Given the description of an element on the screen output the (x, y) to click on. 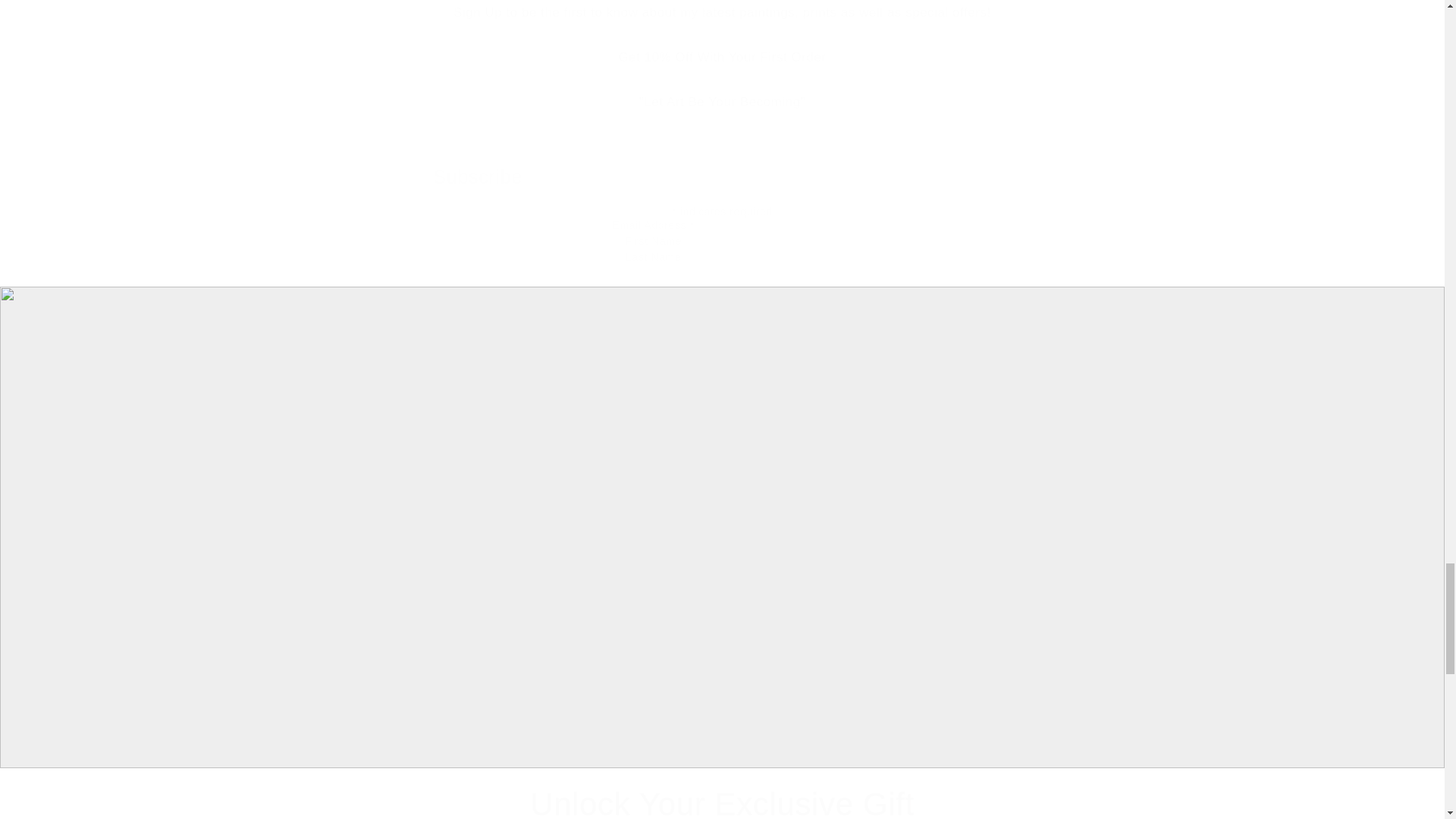
Subscribe (722, 283)
Unlock Your Exclusive Gift (722, 801)
